Given the description of an element on the screen output the (x, y) to click on. 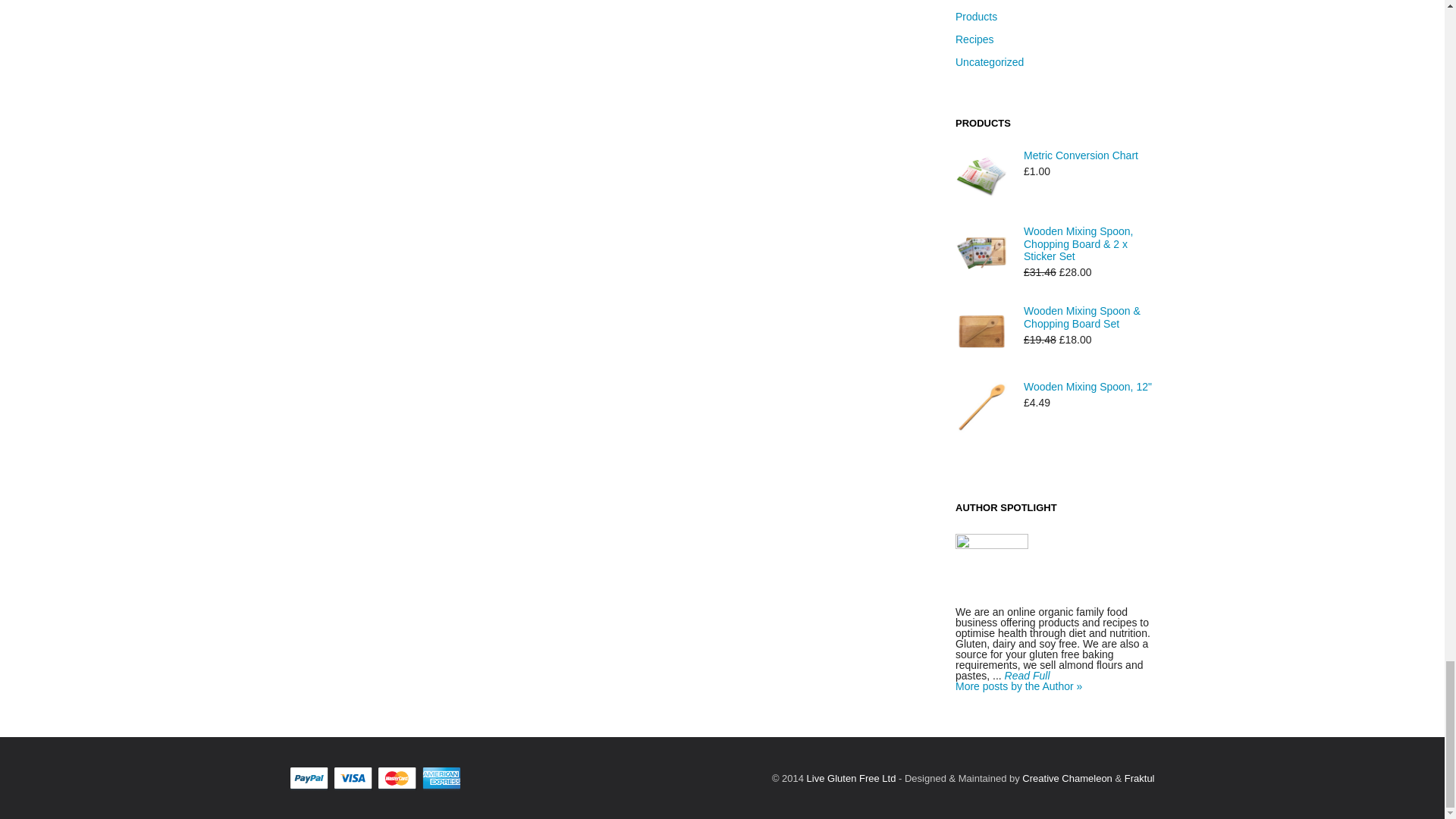
More articles by this author (1018, 686)
Read full Profile (1026, 675)
